Given the description of an element on the screen output the (x, y) to click on. 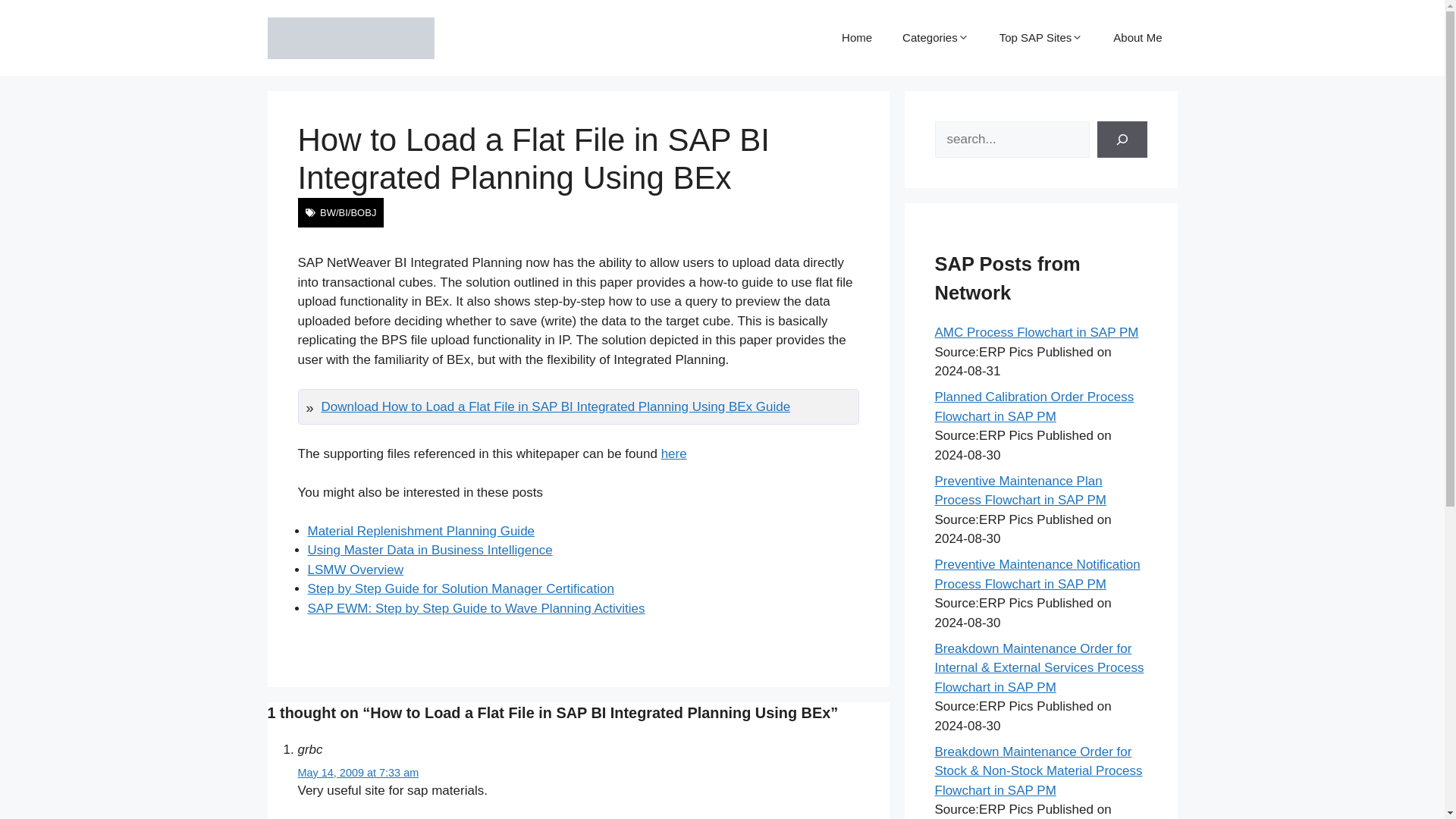
LSMW Overview (355, 569)
here (674, 453)
Material Replenishment Planning Guide (421, 531)
LSMW Overview (355, 569)
SAP EWM: Step by Step Guide to Wave Planning Activities (476, 608)
Top SAP Sites (1041, 37)
Step by Step Guide for Solution Manager Certification (460, 588)
SAP EWM: Step by Step Guide to Wave Planning Activities (476, 608)
Material Replenishment Planning Guide (421, 531)
Step by Step Guide for Solution Manager Certification (460, 588)
